Given the description of an element on the screen output the (x, y) to click on. 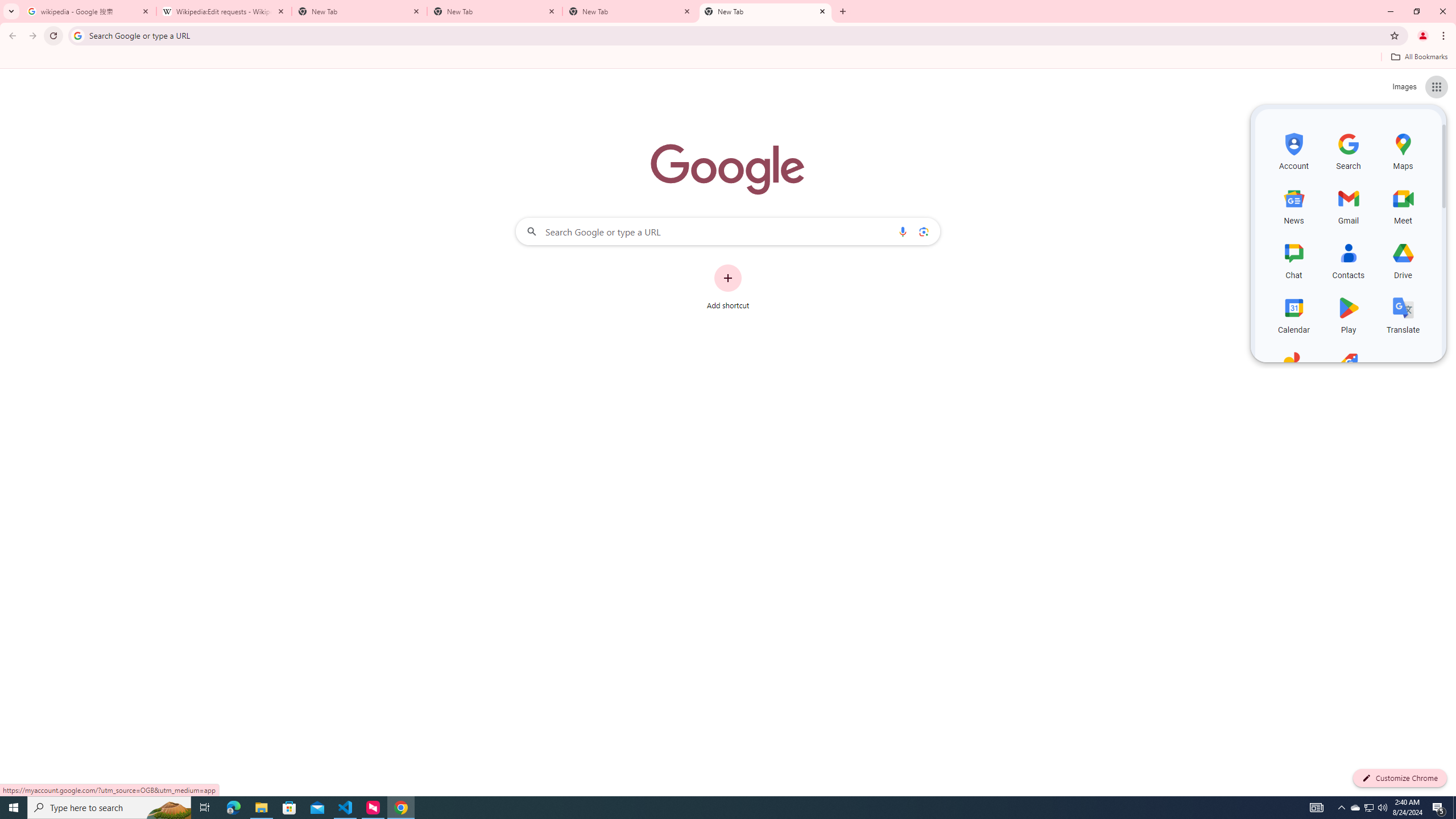
Account, row 1 of 5 and column 1 of 3 in the first section (1293, 149)
Wikipedia:Edit requests - Wikipedia (224, 11)
Shopping, row 5 of 5 and column 2 of 3 in the first section (1348, 368)
Drive, row 3 of 5 and column 3 of 3 in the first section (1402, 259)
Gmail, row 2 of 5 and column 2 of 3 in the first section (1348, 204)
News, row 2 of 5 and column 1 of 3 in the first section (1293, 204)
Add shortcut (727, 287)
